Given the description of an element on the screen output the (x, y) to click on. 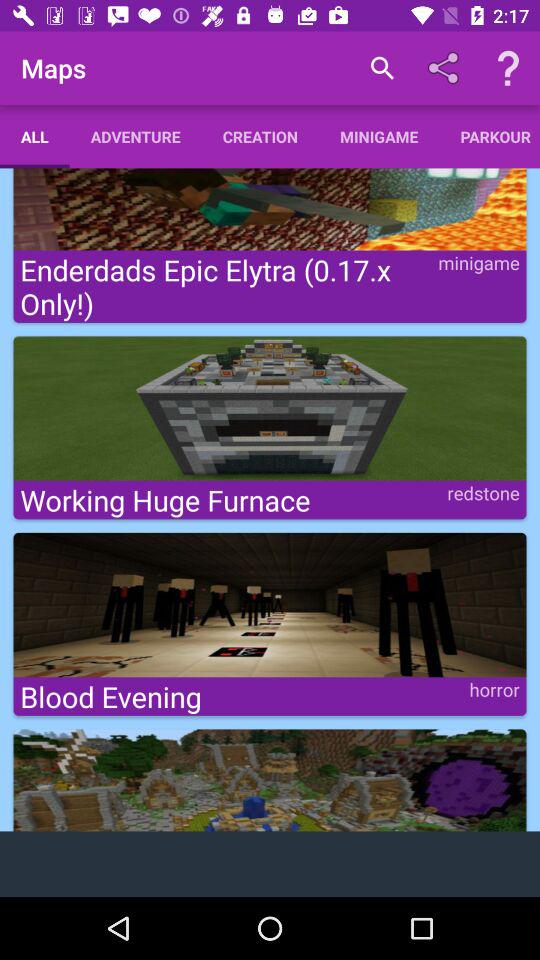
help option (508, 67)
